Given the description of an element on the screen output the (x, y) to click on. 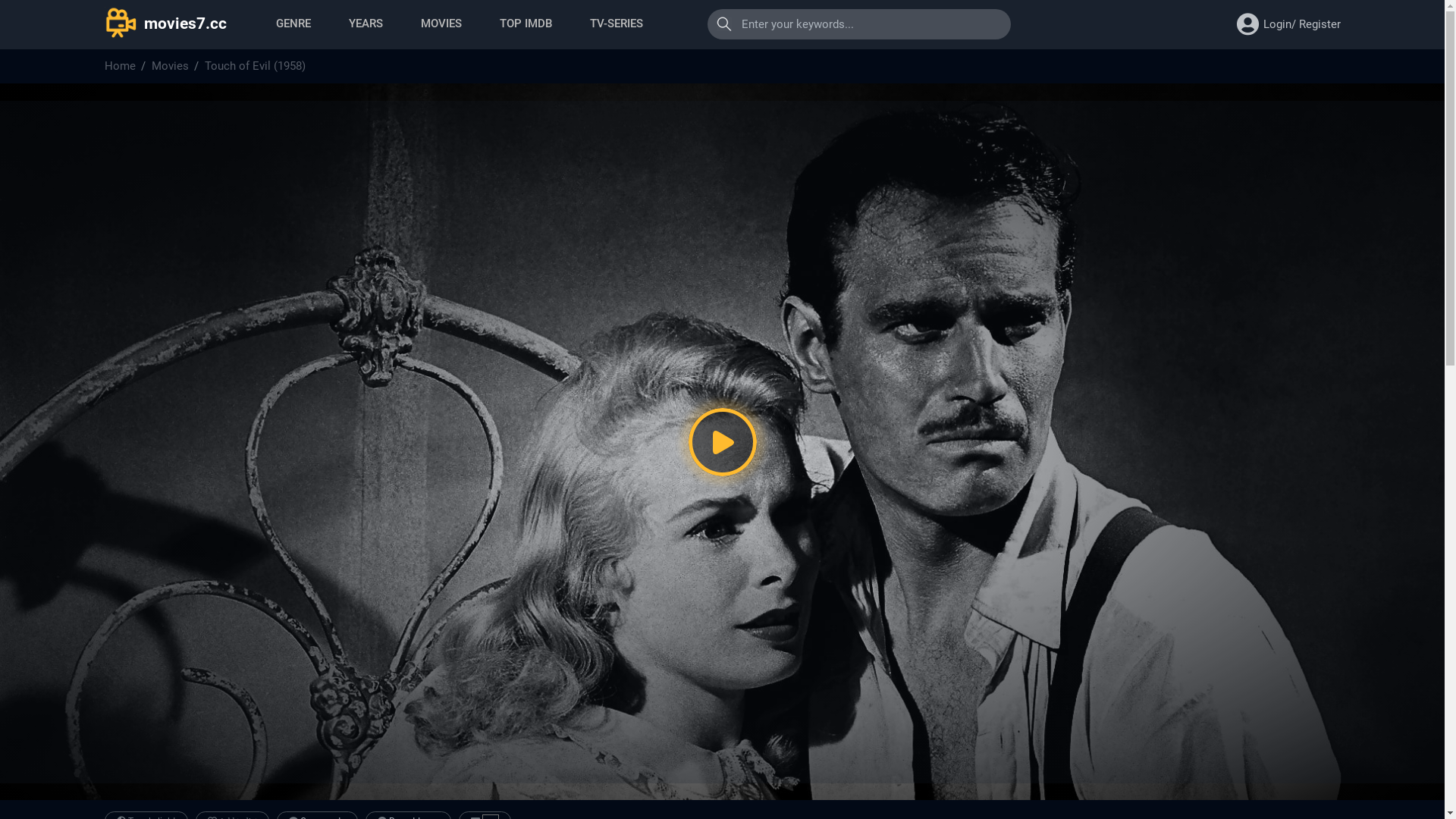
GENRE Element type: text (293, 23)
YEARS Element type: text (365, 23)
Home Element type: text (119, 66)
Movies Element type: text (169, 66)
TOP IMDB Element type: text (524, 23)
TV-SERIES Element type: text (616, 23)
movies7.cc Element type: text (165, 26)
Touch of Evil (1958) Element type: text (254, 66)
Login/ Register Element type: text (1301, 24)
MOVIES Element type: text (440, 23)
